Given the description of an element on the screen output the (x, y) to click on. 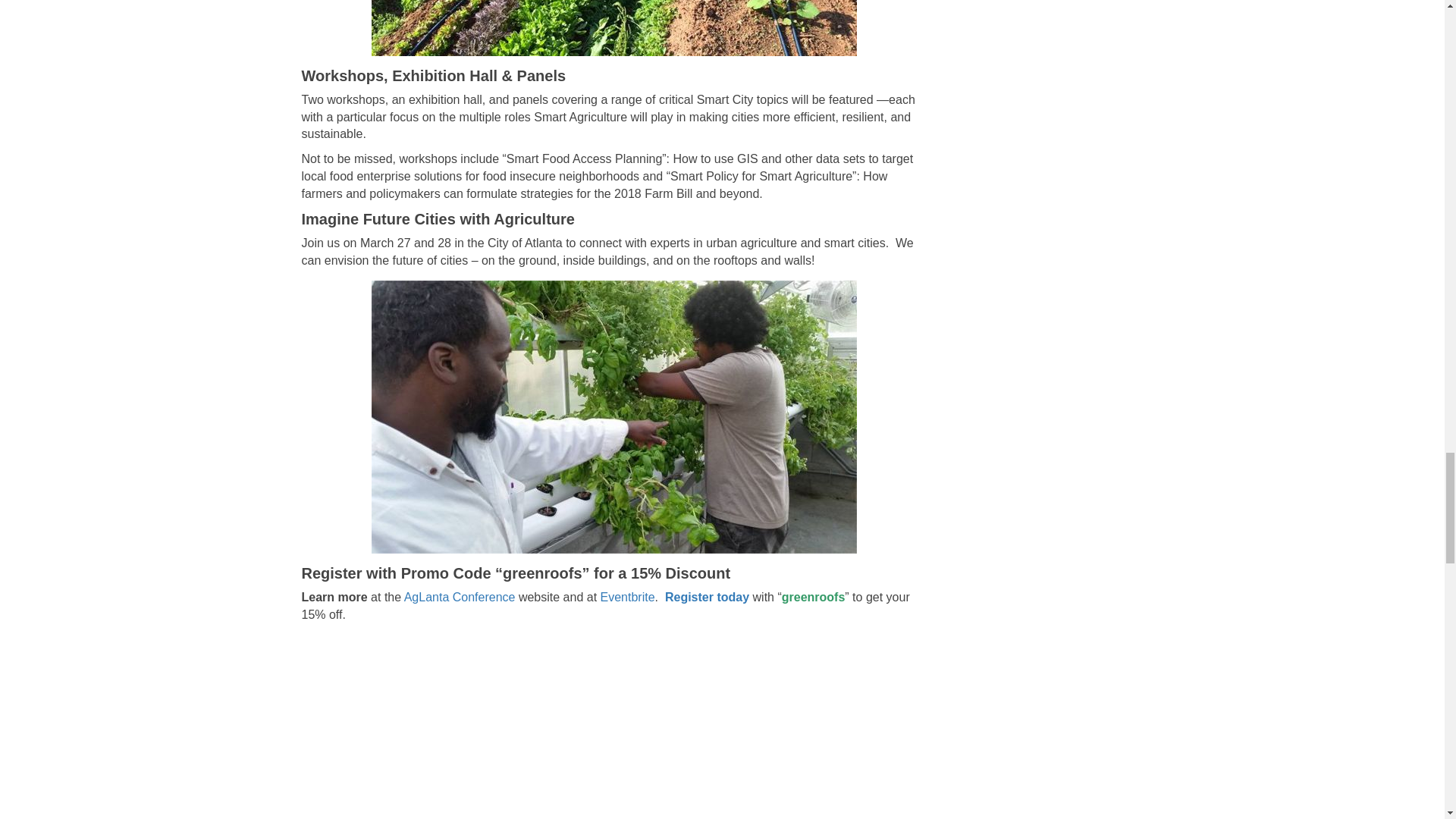
AgLanta Conference (459, 596)
Register today (707, 596)
Eventbrite (627, 596)
